Given the description of an element on the screen output the (x, y) to click on. 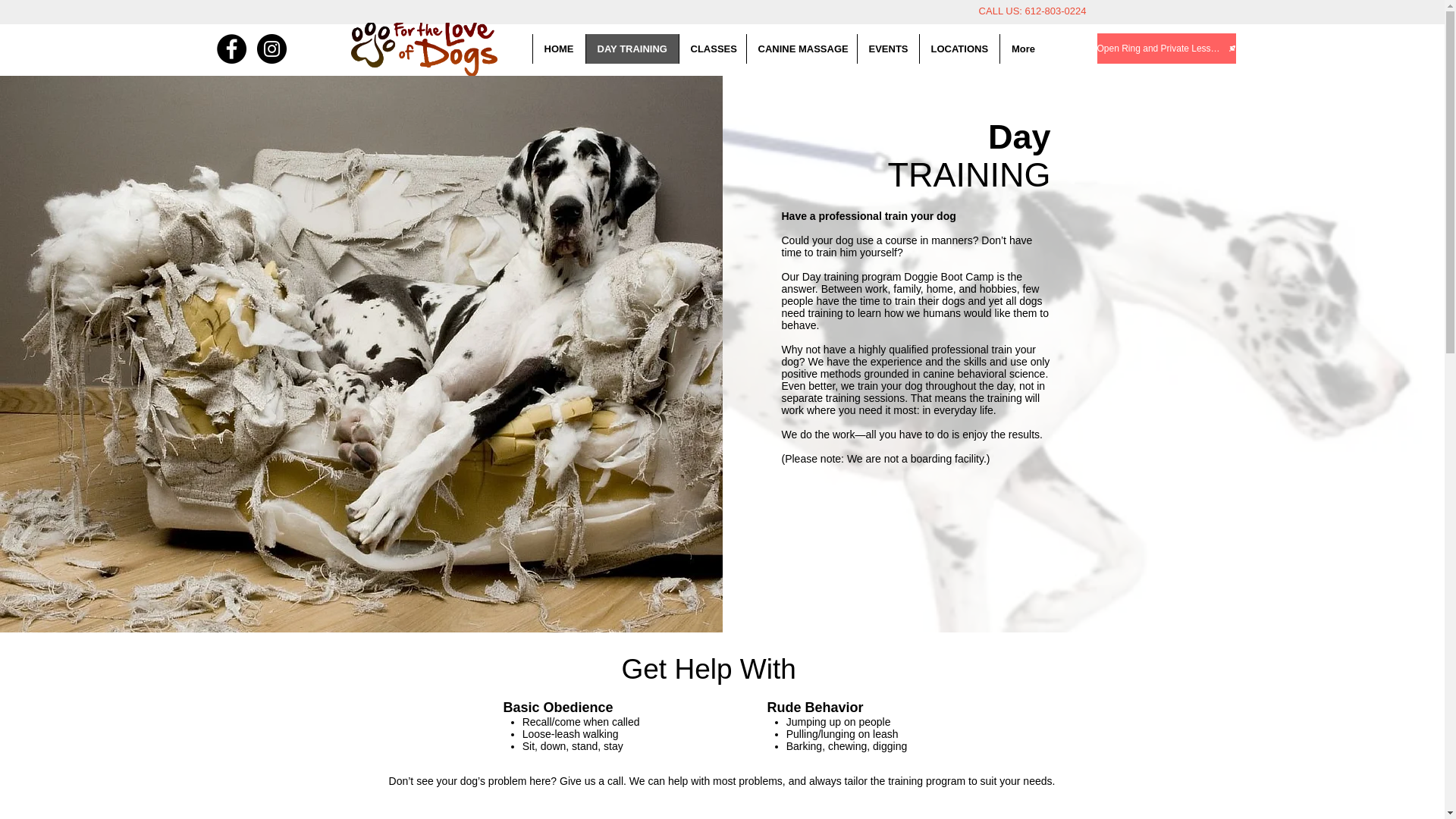
HOME (558, 48)
CLASSES (711, 48)
CANINE MASSAGE (801, 48)
DAY TRAINING (631, 48)
Open Ring and Private Lessons (1165, 48)
EVENTS (887, 48)
LOCATIONS (958, 48)
